Given the description of an element on the screen output the (x, y) to click on. 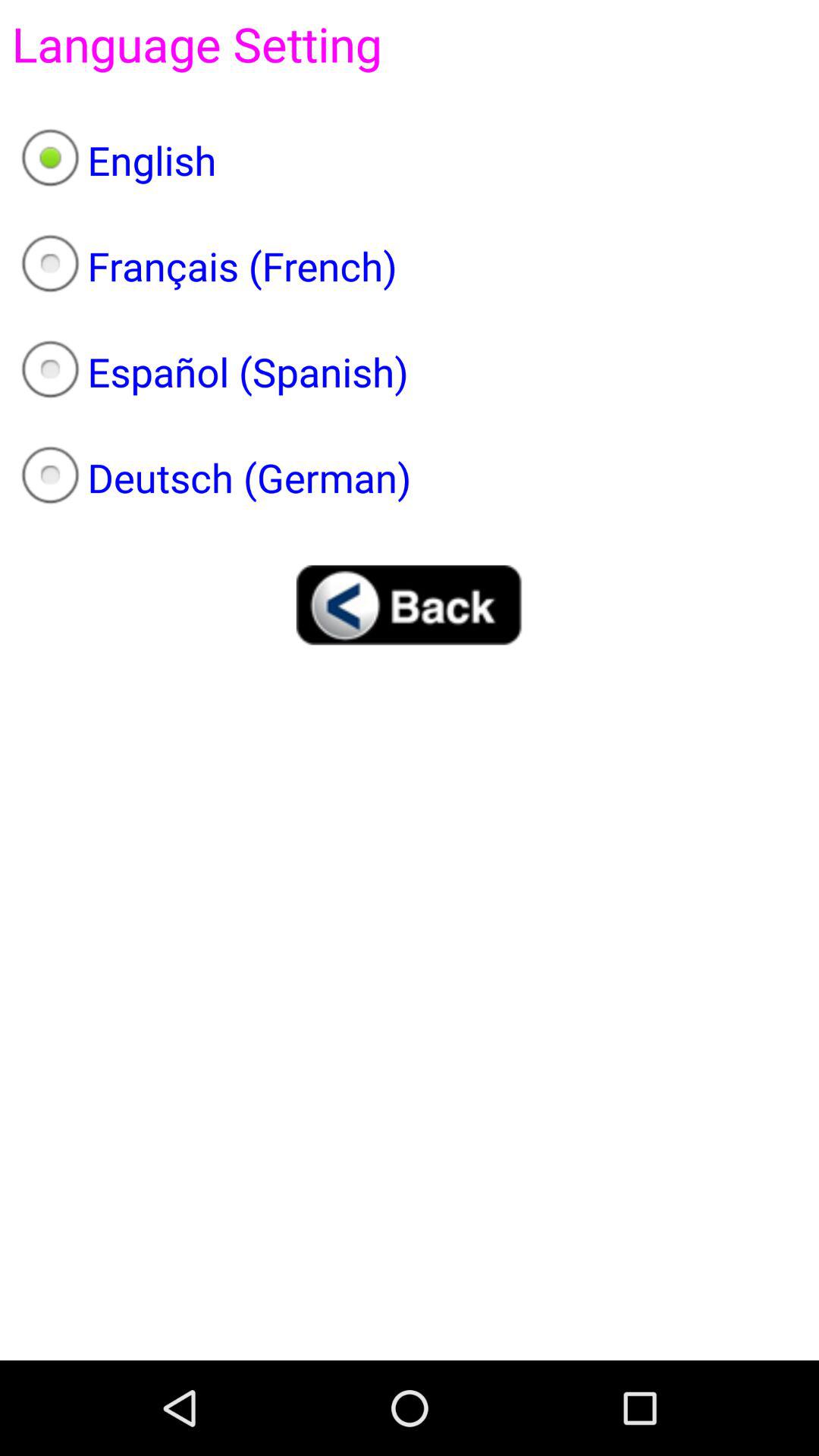
click the deutsch (german) (409, 477)
